Given the description of an element on the screen output the (x, y) to click on. 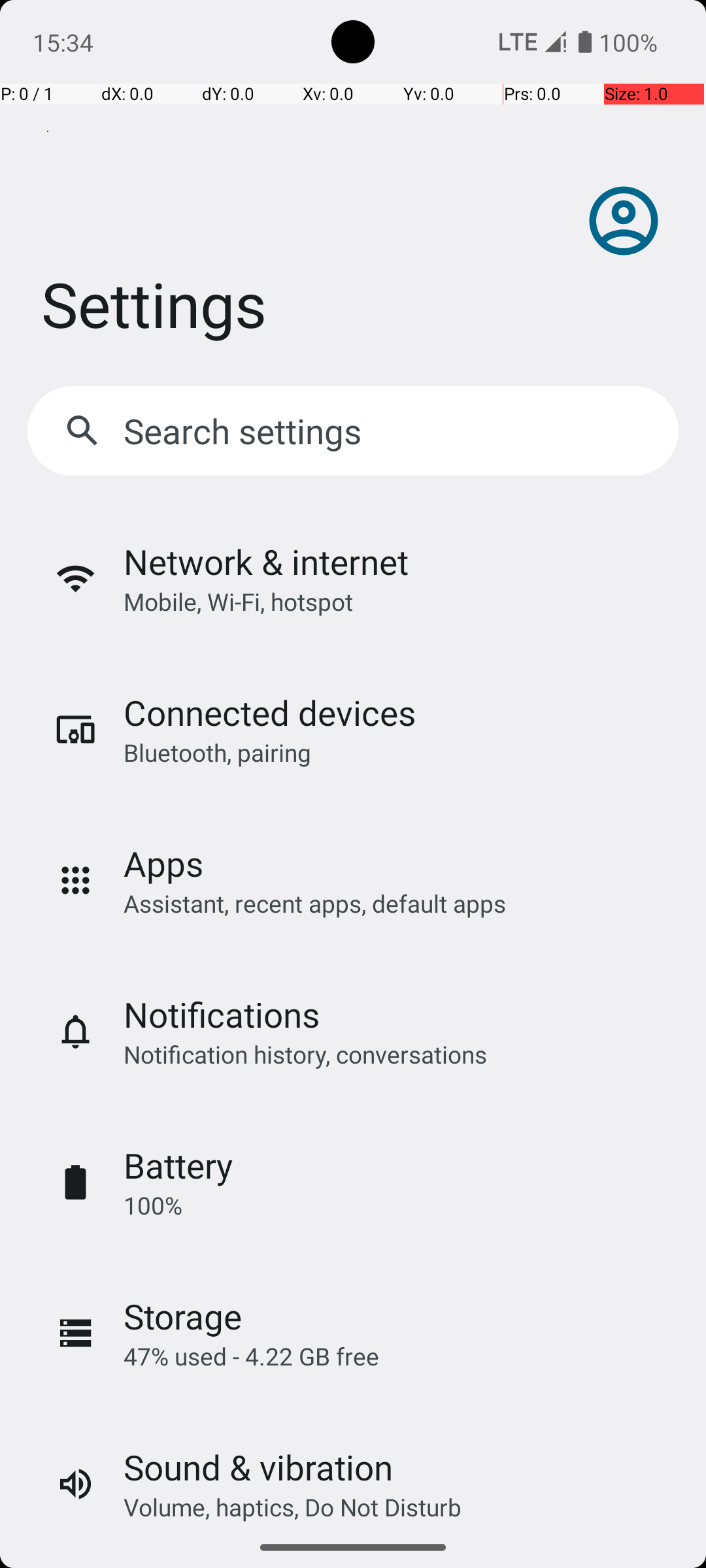
47% used - 4.22 GB free Element type: android.widget.TextView (251, 1355)
